Given the description of an element on the screen output the (x, y) to click on. 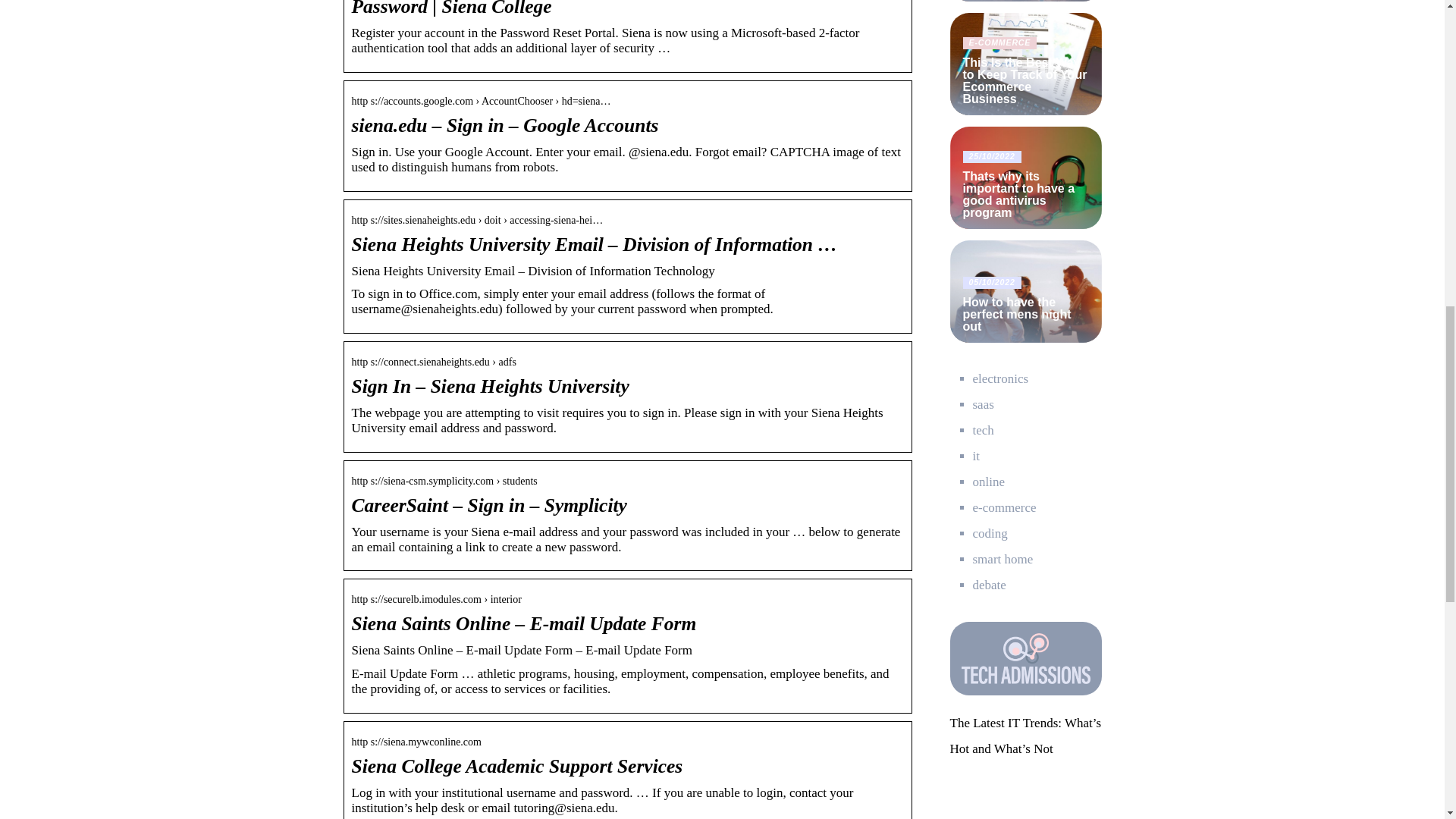
saas (982, 404)
smart home (1002, 559)
online (988, 481)
electronics (999, 378)
coding (989, 533)
e-commerce (1003, 507)
debate (989, 585)
tech (982, 430)
